Given the description of an element on the screen output the (x, y) to click on. 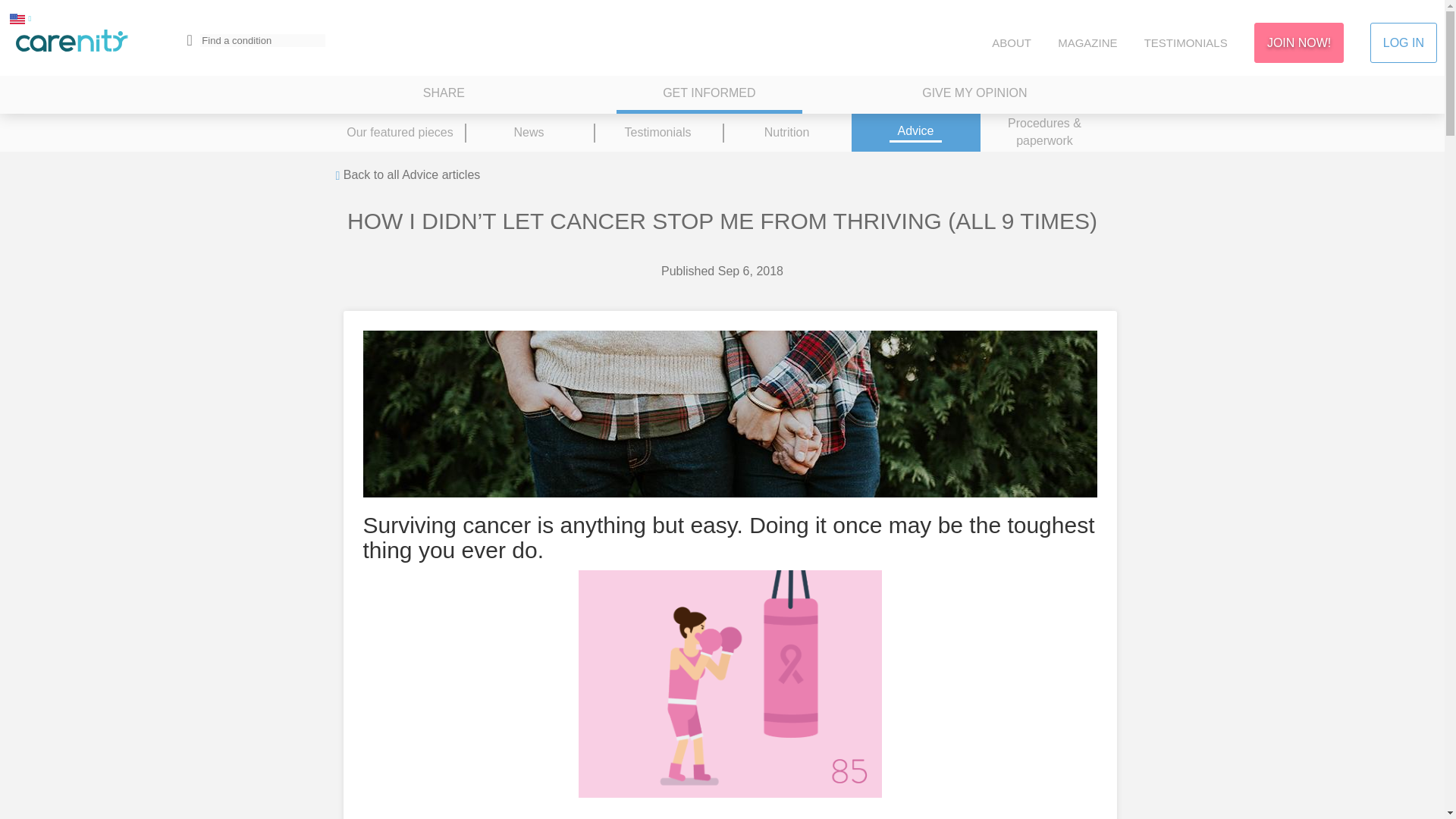
JOIN NOW! (1298, 42)
Back to all Advice articles (407, 175)
beating cancer.gif (729, 683)
Advice (914, 132)
LOG IN (1403, 42)
ABOUT (1010, 42)
GIVE MY OPINION (974, 94)
TESTIMONIALS (1185, 42)
MAGAZINE (1087, 42)
Our featured pieces (399, 132)
Nutrition (786, 132)
GET INFORMED (708, 94)
USA (17, 18)
News (528, 132)
SHARE (443, 94)
